Given the description of an element on the screen output the (x, y) to click on. 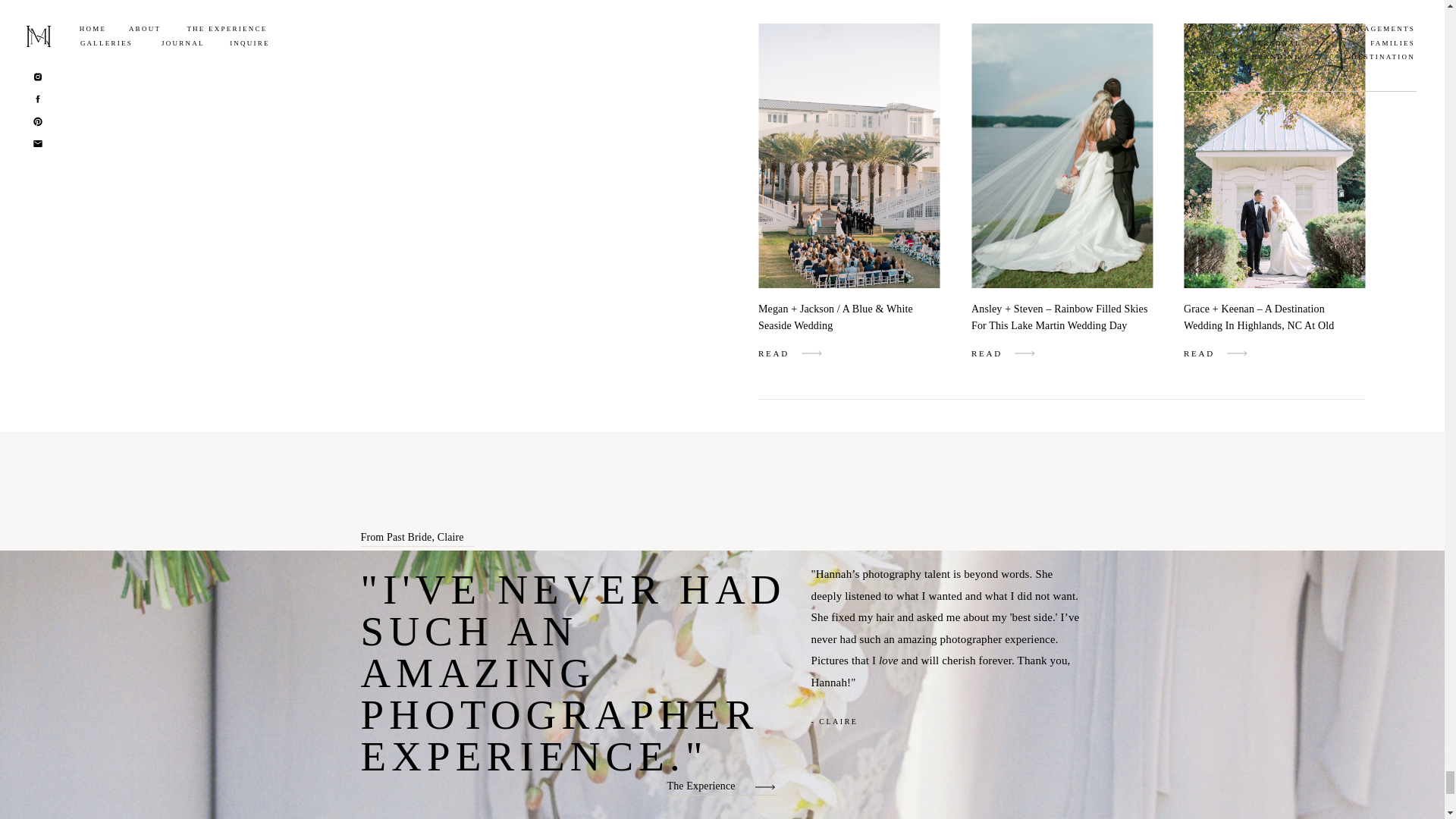
The Experience (710, 784)
READ (781, 353)
READ (1206, 353)
READ (994, 353)
